Given the description of an element on the screen output the (x, y) to click on. 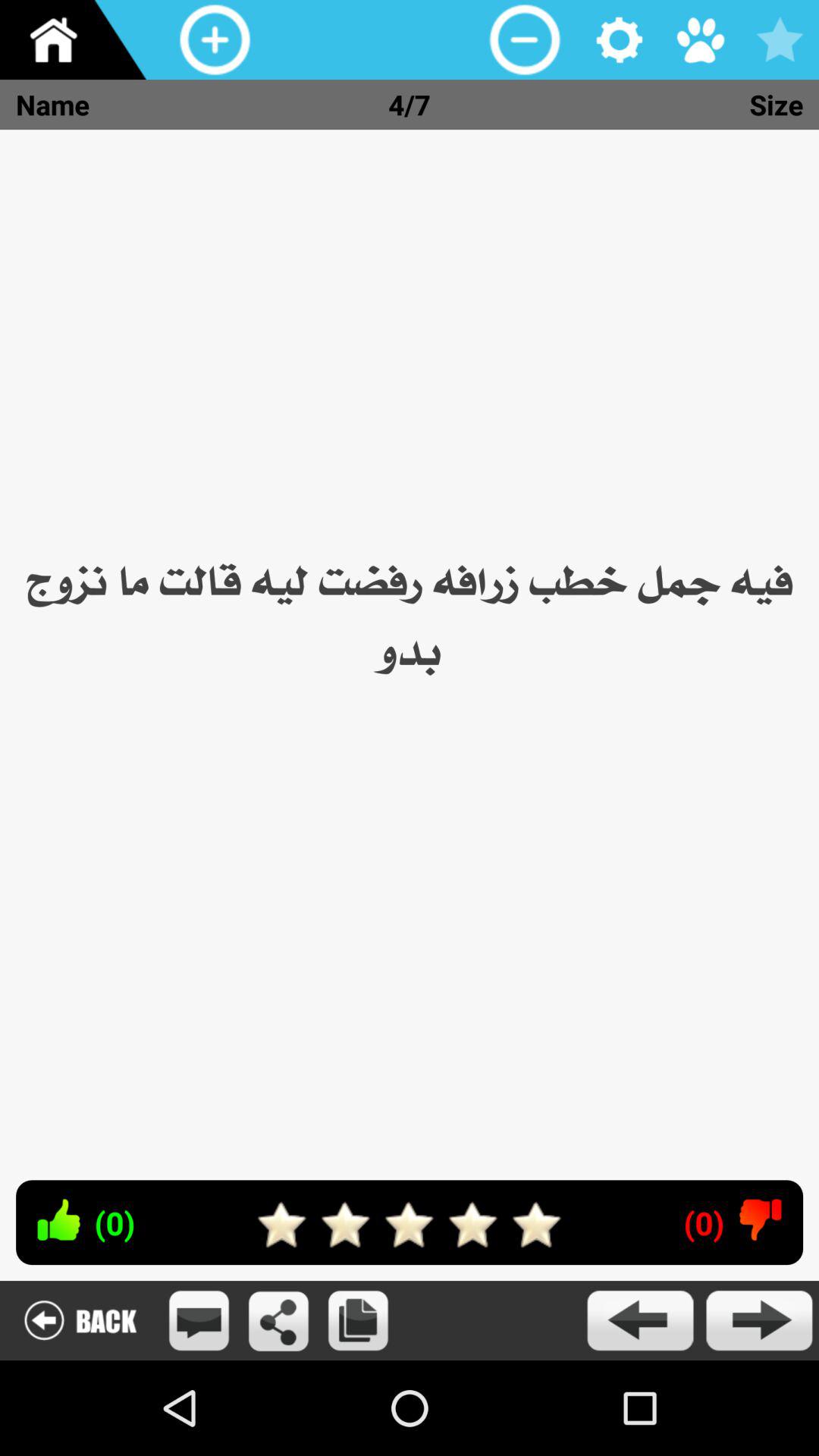
hit like (58, 1219)
